Given the description of an element on the screen output the (x, y) to click on. 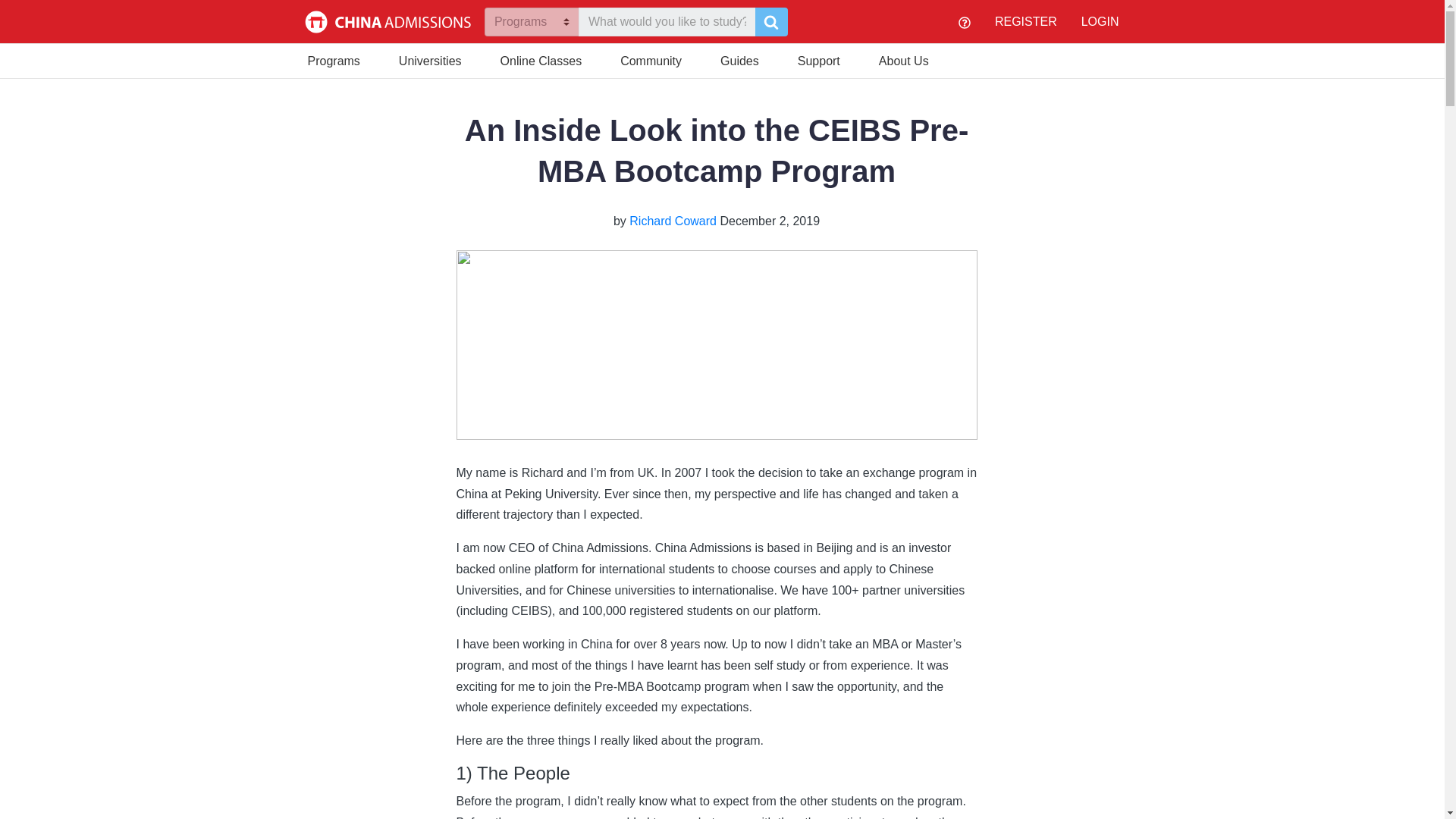
REGISTER (1025, 20)
LOGIN (1100, 20)
Programs (333, 59)
